Given the description of an element on the screen output the (x, y) to click on. 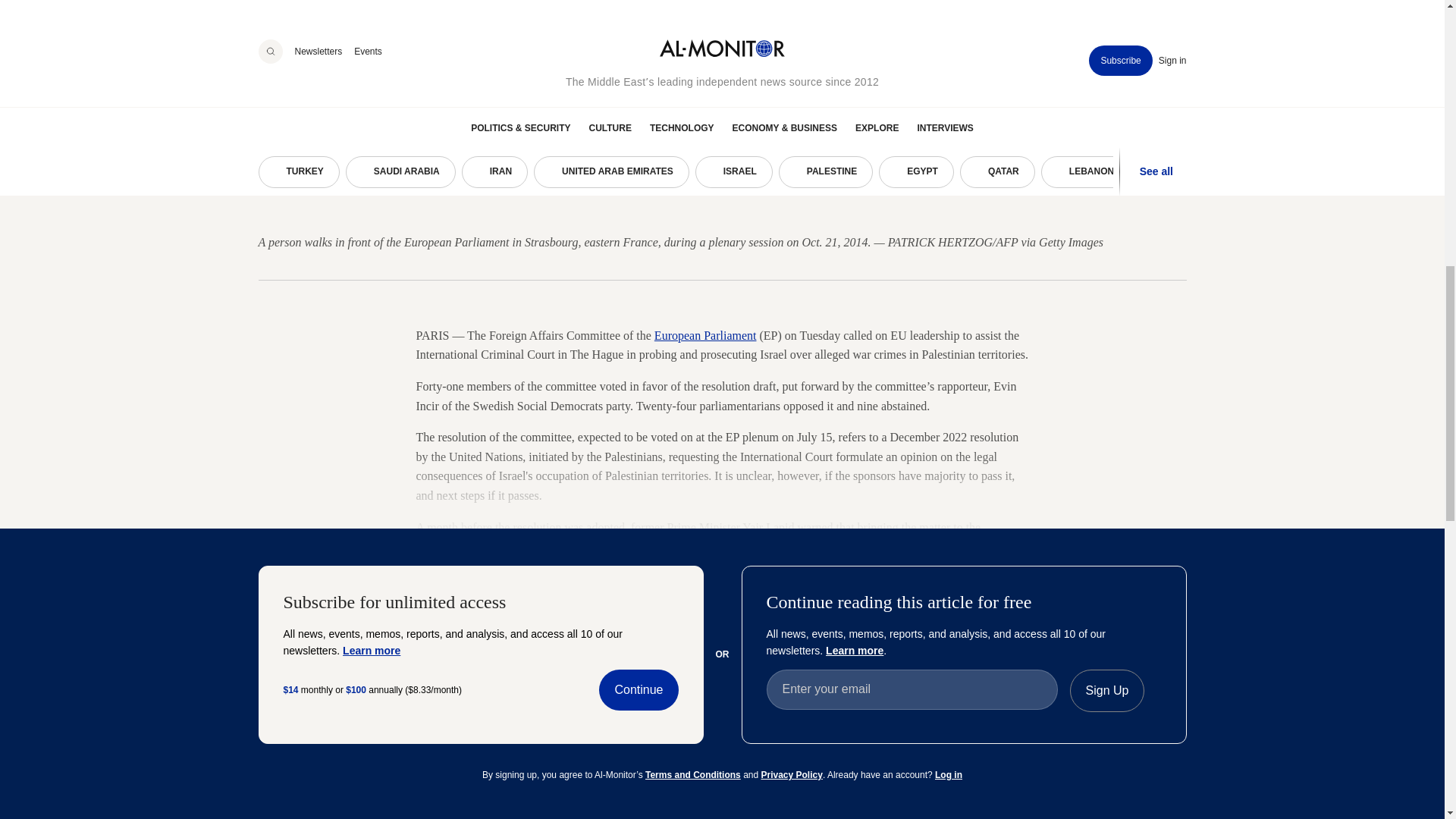
Related Articles (721, 734)
Related Articles (315, 734)
